Given the description of an element on the screen output the (x, y) to click on. 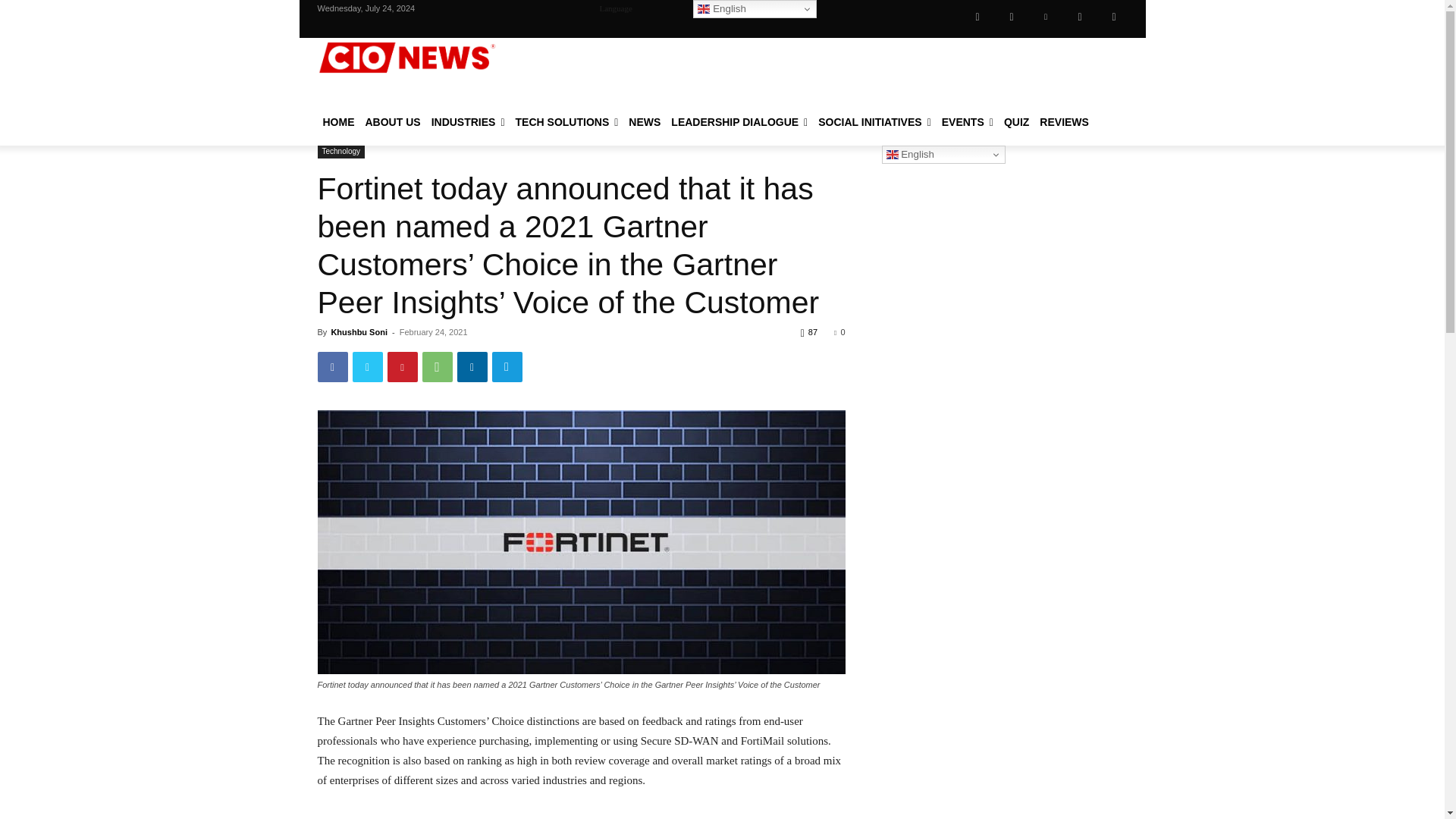
Facebook (976, 17)
Instagram (1011, 17)
Facebook (332, 367)
Twitter (1079, 17)
Linkedin (1045, 17)
Pinterest (401, 367)
Twitter (366, 367)
